Given the description of an element on the screen output the (x, y) to click on. 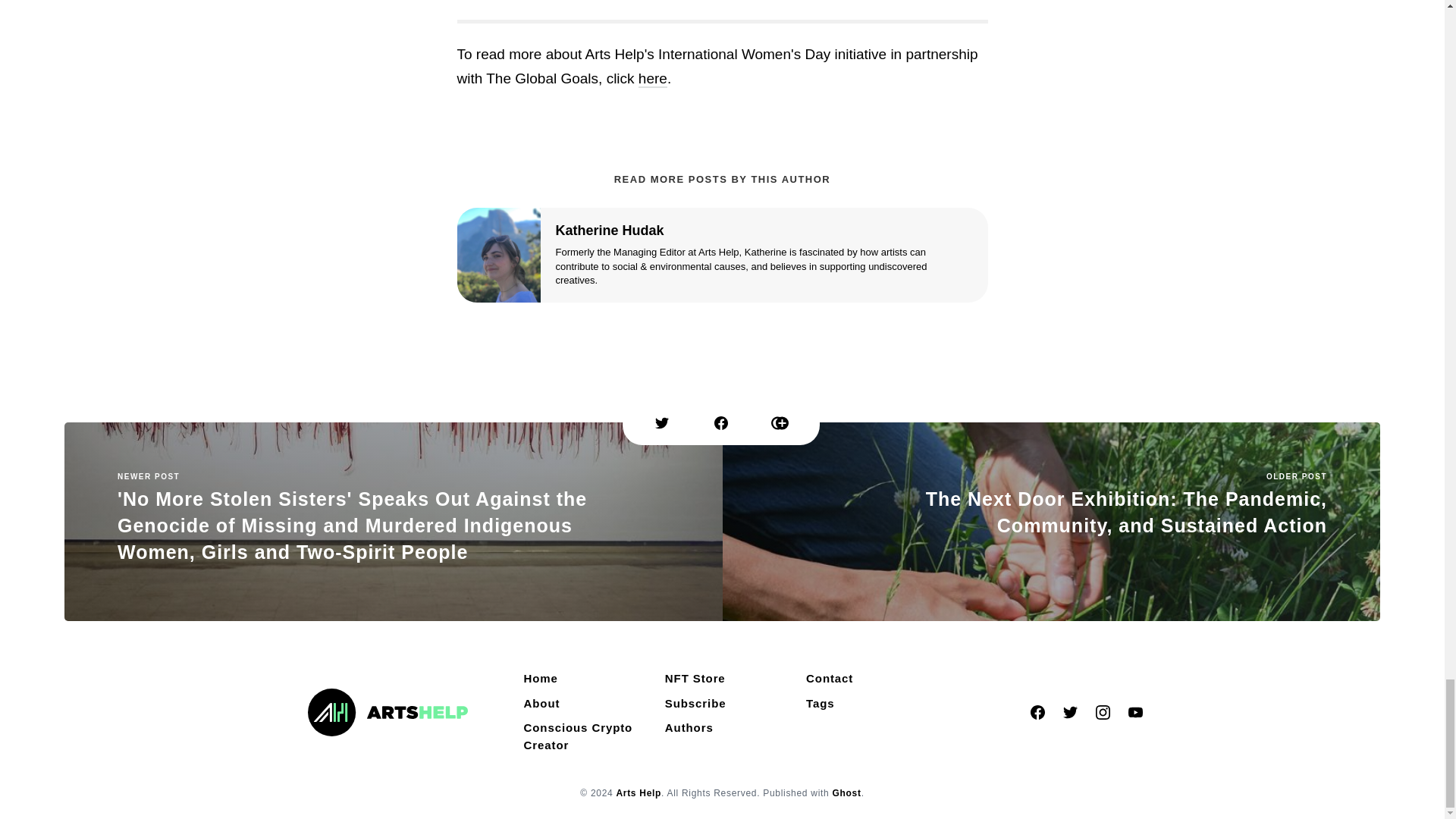
Contact (828, 678)
Conscious Crypto Creator (581, 736)
Authors (689, 728)
Arts Help (638, 792)
Katherine Hudak (608, 230)
NFT Store (695, 678)
here (652, 78)
Tags (820, 703)
About (541, 703)
Subscribe (695, 703)
Home (541, 678)
